Given the description of an element on the screen output the (x, y) to click on. 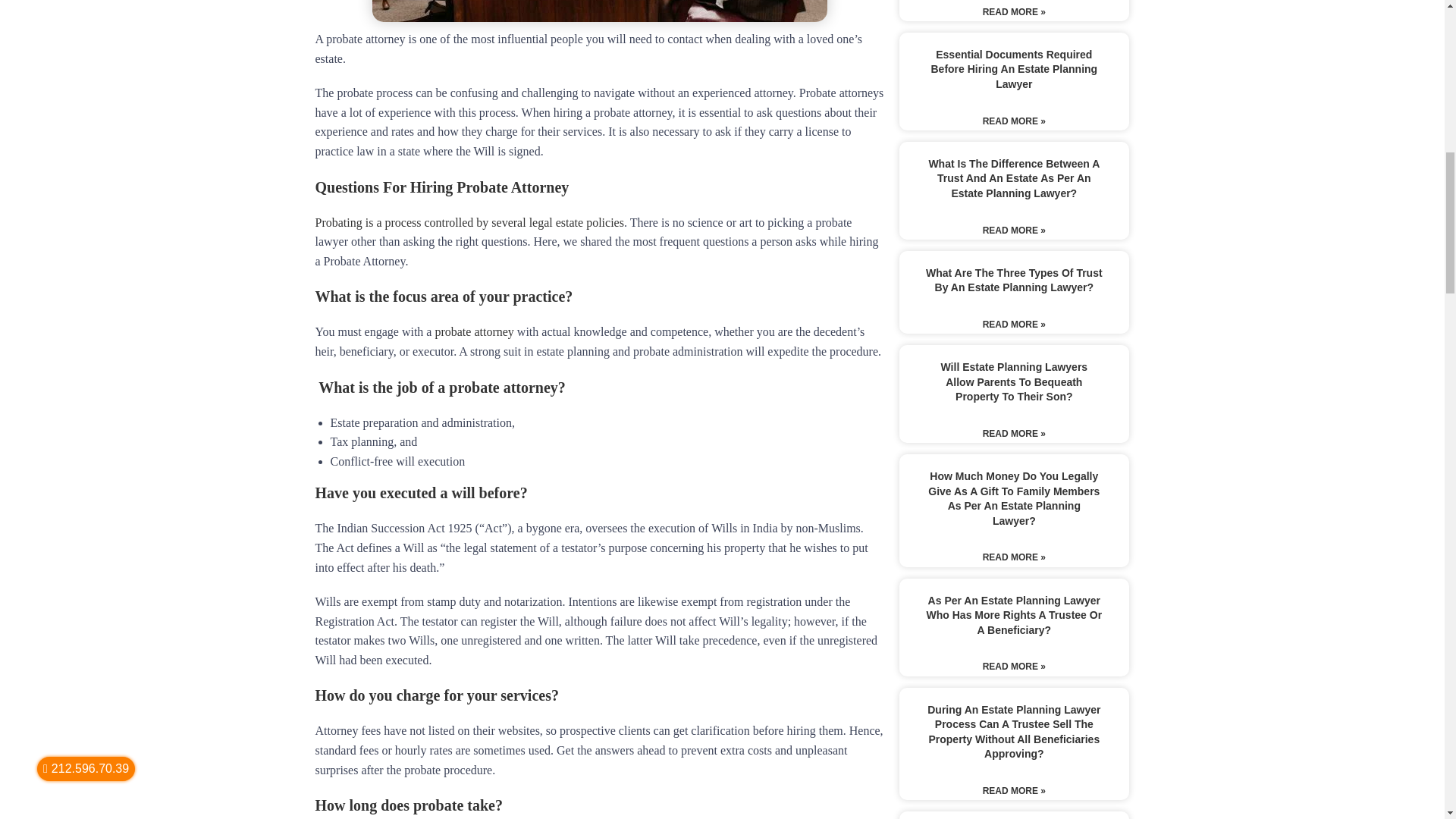
probate attorney (473, 331)
